Given the description of an element on the screen output the (x, y) to click on. 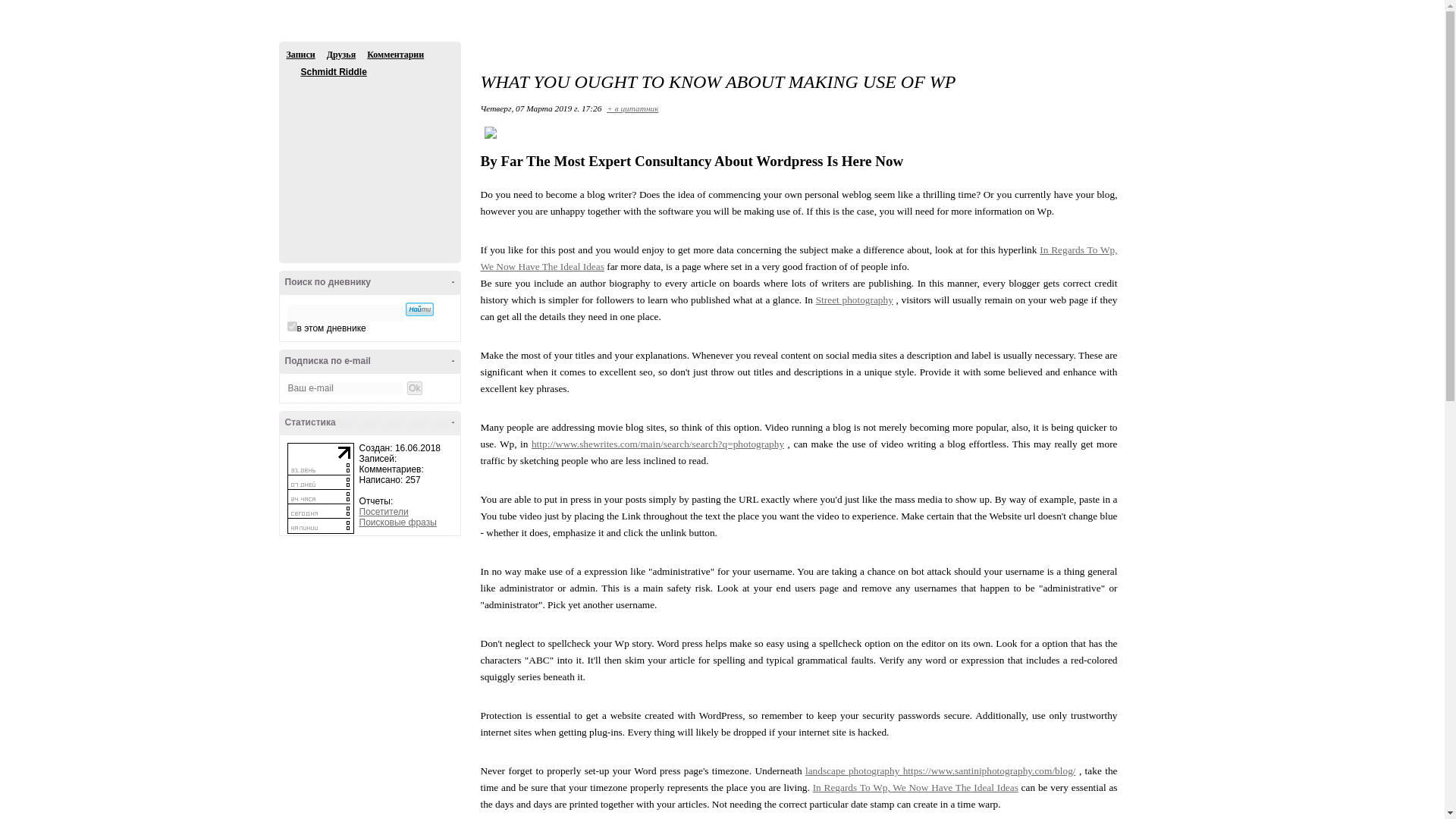
1 (291, 326)
In Regards To Wp, We Now Have The Ideal Ideas (914, 787)
Ok (414, 387)
landscape photography (853, 770)
Ok (7, 6)
Street photography (854, 299)
Ok (414, 387)
In Regards To Wp, We Now Have The Ideal Ideas (799, 257)
Schmidt Riddle (292, 72)
Schmidt Riddle (332, 71)
